Given the description of an element on the screen output the (x, y) to click on. 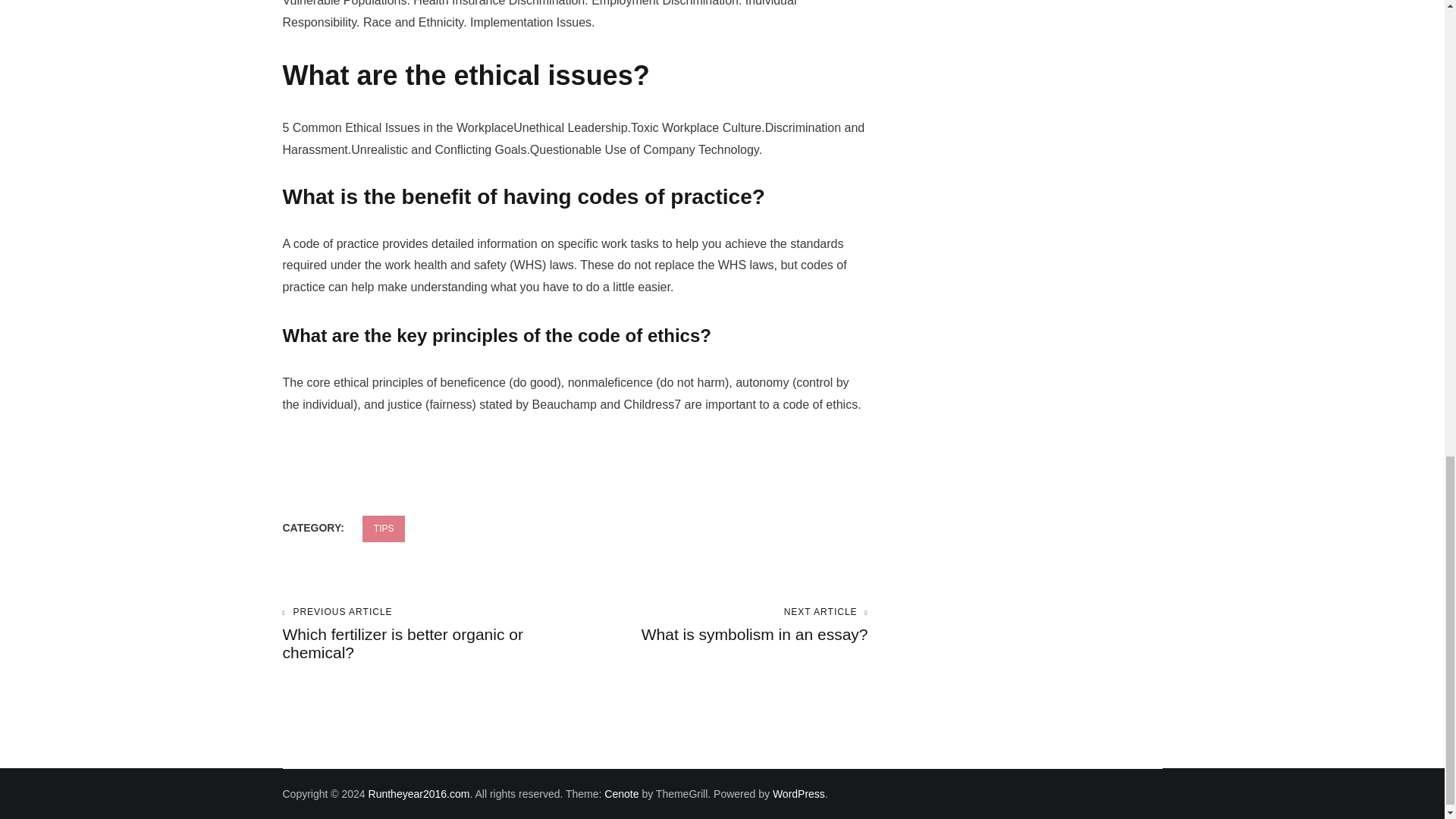
Runtheyear2016.com (419, 793)
Runtheyear2016.com (419, 793)
TIPS (384, 528)
Cenote (621, 793)
WordPress (721, 624)
